Given the description of an element on the screen output the (x, y) to click on. 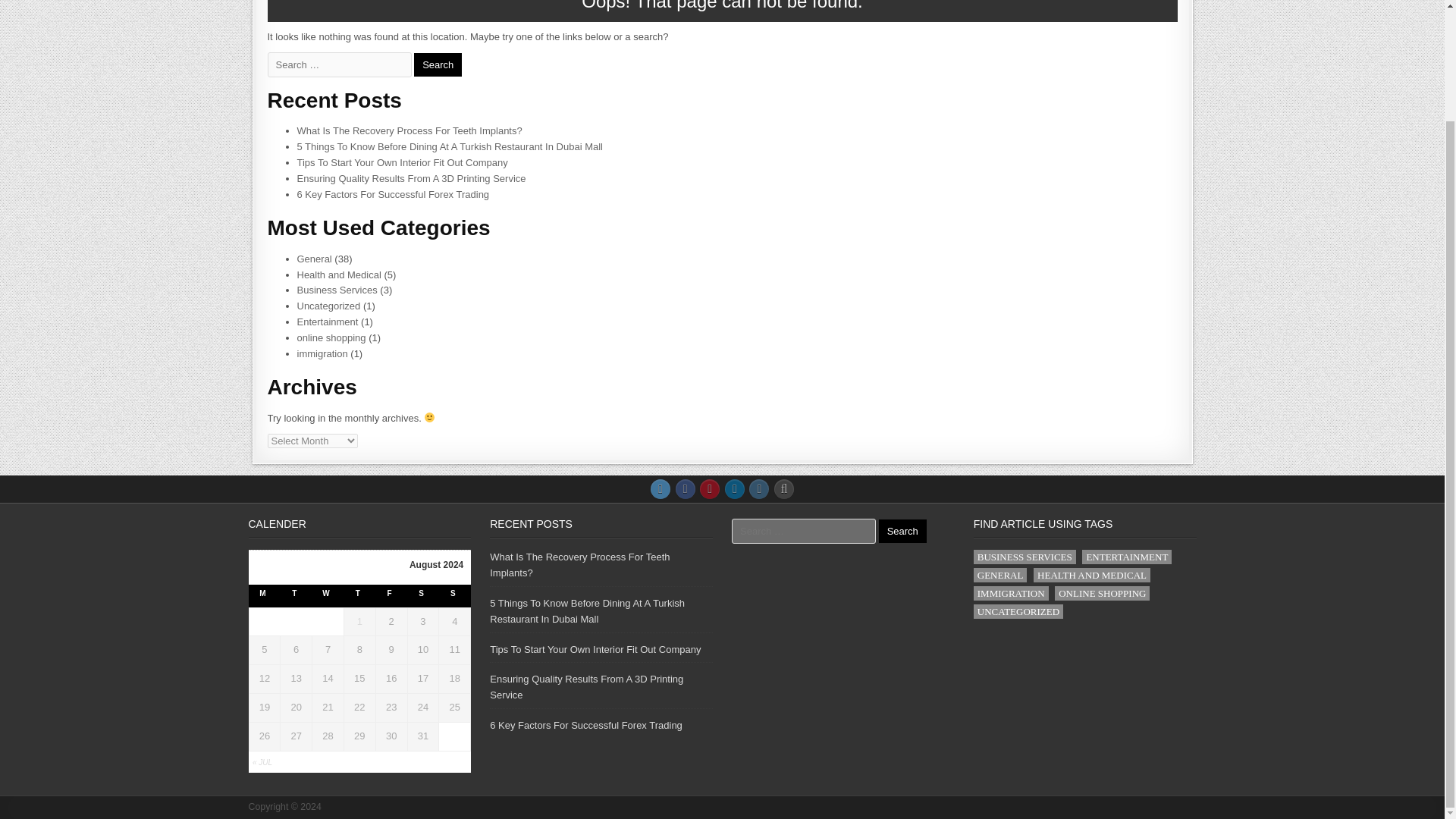
Tuesday (297, 596)
General (314, 258)
What Is The Recovery Process For Teeth Implants? (409, 130)
Health and Medical (339, 274)
Tips To Start Your Own Interior Fit Out Company (402, 162)
Monday (264, 596)
Search (437, 64)
Search (902, 530)
Business Services (337, 289)
online shopping (331, 337)
